Given the description of an element on the screen output the (x, y) to click on. 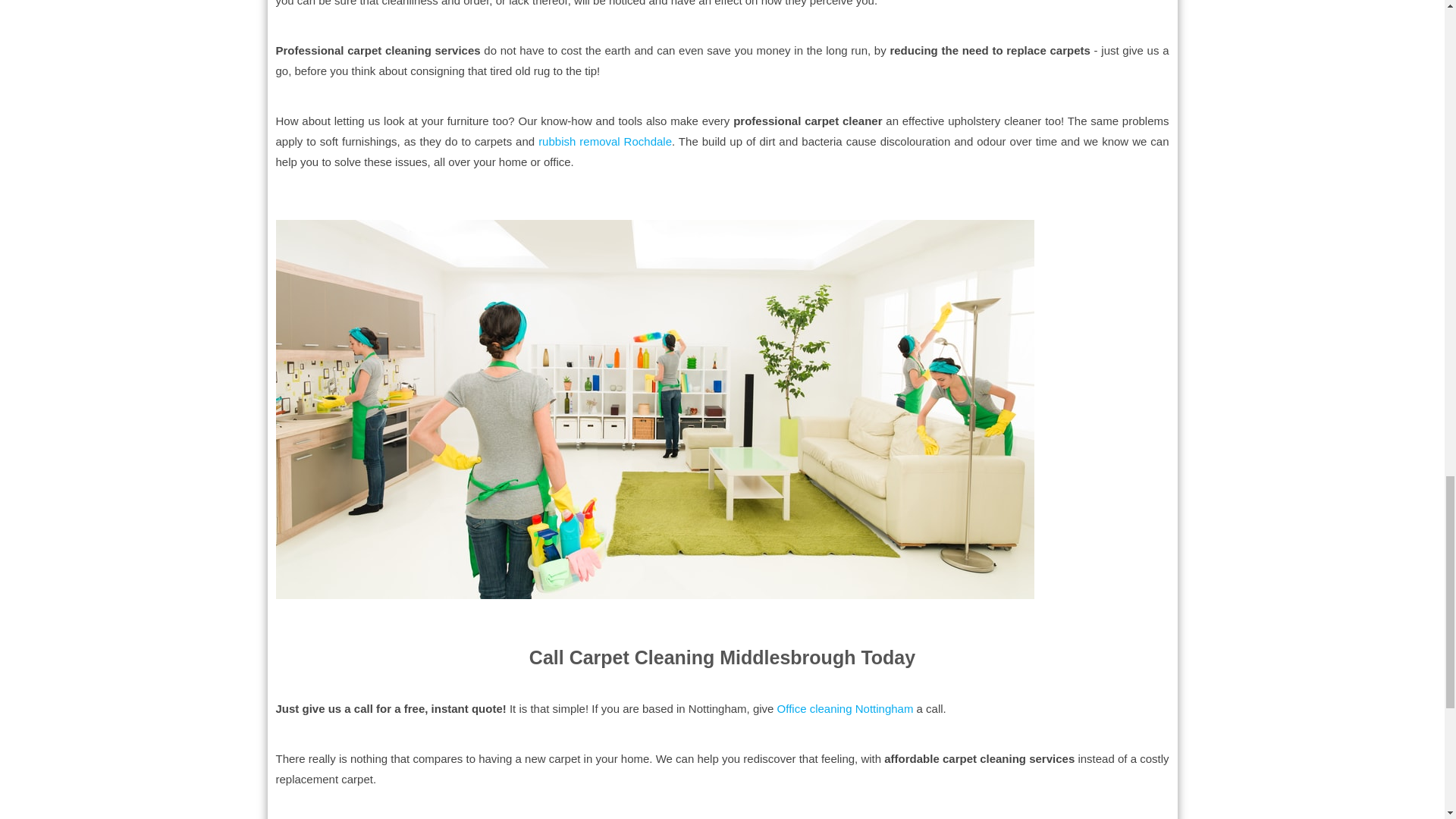
rubbish removal Rochdale (604, 141)
